Given the description of an element on the screen output the (x, y) to click on. 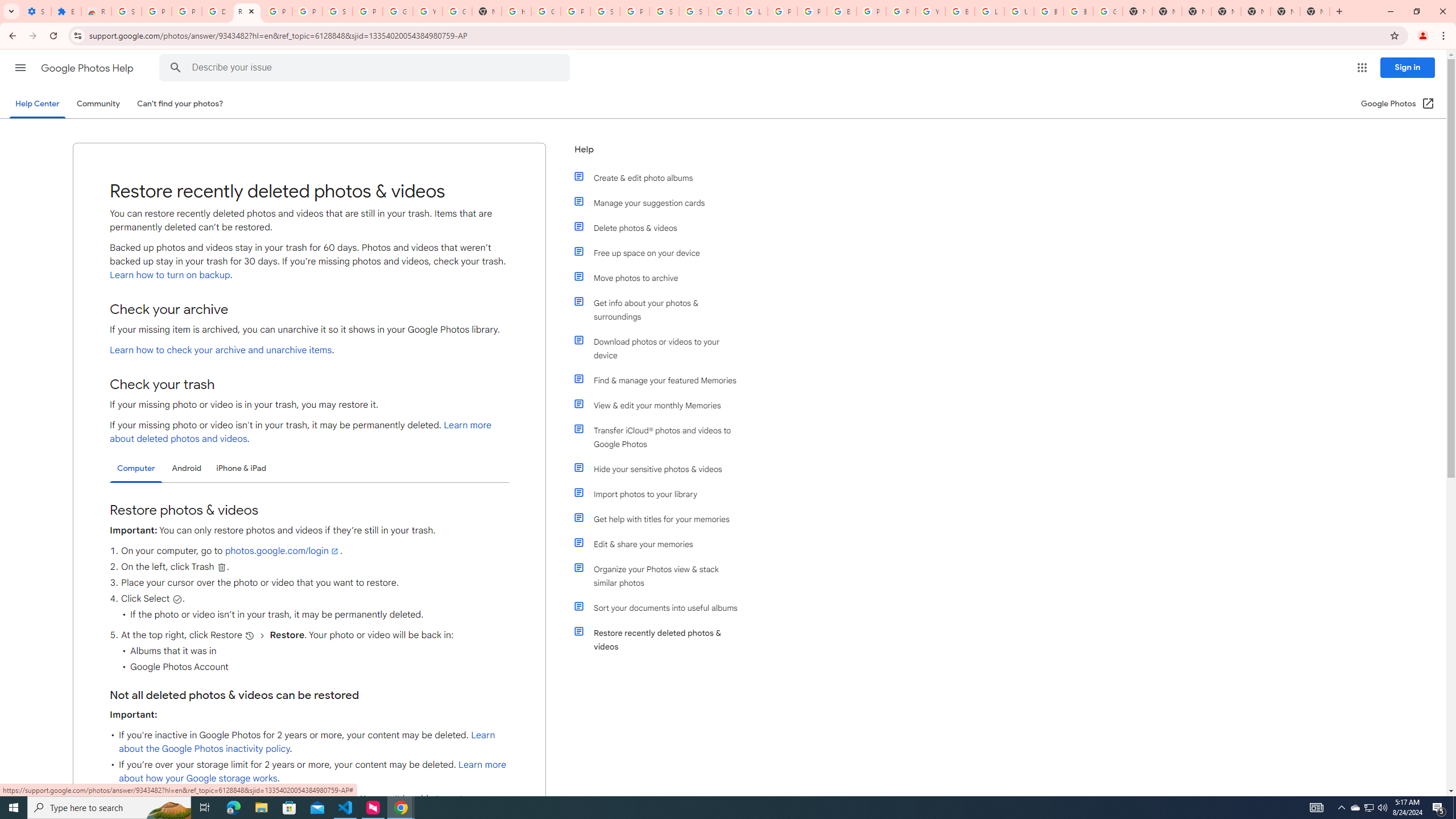
New Tab (1338, 11)
View & edit your monthly Memories (661, 405)
Manage your suggestion cards (661, 202)
photos.google.com/login (282, 550)
Sign in - Google Accounts (693, 11)
Back (10, 35)
Create & edit photo albums (661, 177)
Help (656, 153)
Community (97, 103)
Google Photos (Open in a new window) (1397, 103)
Sign in - Google Accounts (337, 11)
Forward (32, 35)
